Given the description of an element on the screen output the (x, y) to click on. 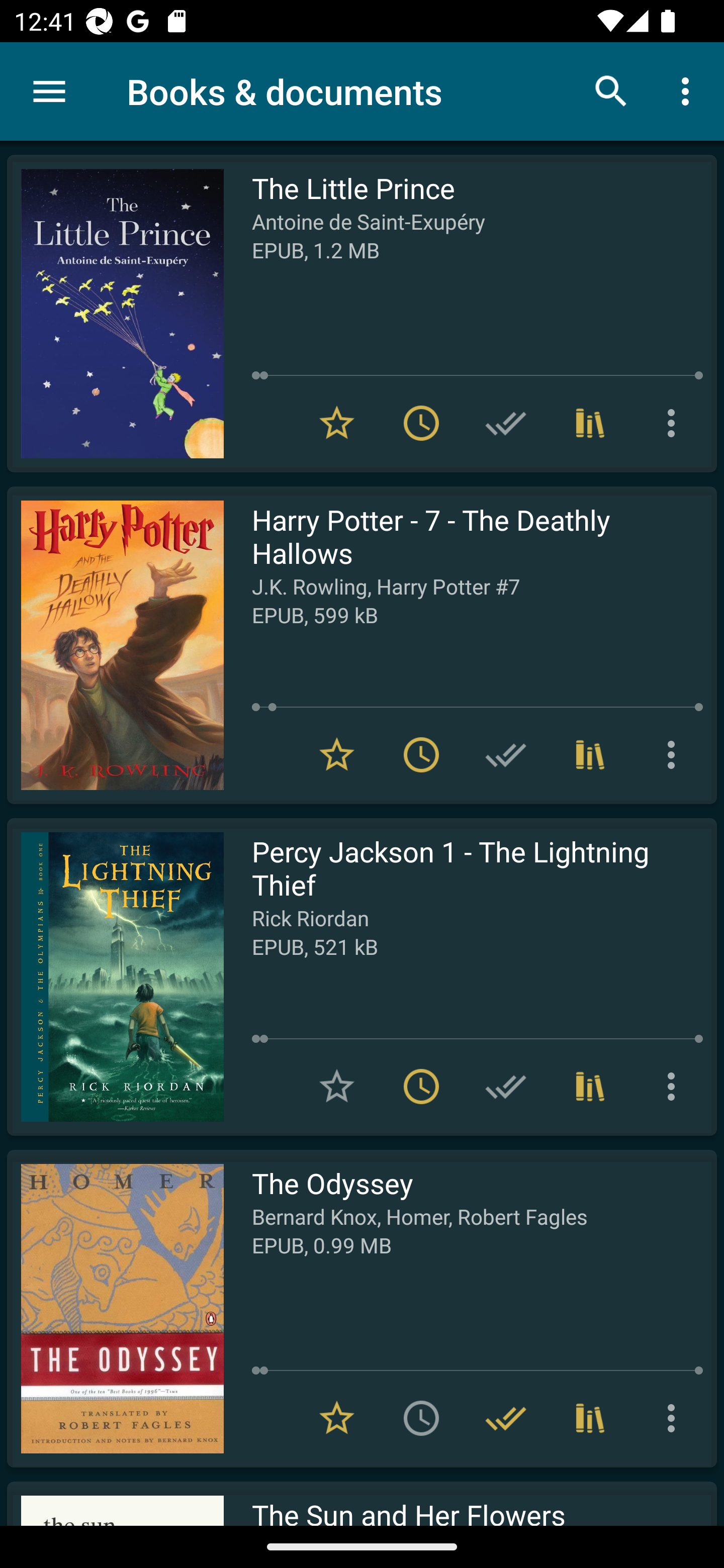
Menu (49, 91)
Search books & documents (611, 90)
More options (688, 90)
Read The Little Prince (115, 313)
Remove from Favorites (336, 423)
Remove from To read (421, 423)
Add to Have read (505, 423)
Collections (1) (590, 423)
More options (674, 423)
Read Harry Potter - 7 - The Deathly Hallows (115, 645)
Remove from Favorites (336, 753)
Remove from To read (421, 753)
Add to Have read (505, 753)
Collections (3) (590, 753)
More options (674, 753)
Read Percy Jackson 1 - The Lightning Thief (115, 976)
Add to Favorites (336, 1086)
Remove from To read (421, 1086)
Add to Have read (505, 1086)
Collections (1) (590, 1086)
More options (674, 1086)
Read The Odyssey (115, 1308)
Remove from Favorites (336, 1417)
Add to To read (421, 1417)
Remove from Have read (505, 1417)
Collections (2) (590, 1417)
More options (674, 1417)
